Given the description of an element on the screen output the (x, y) to click on. 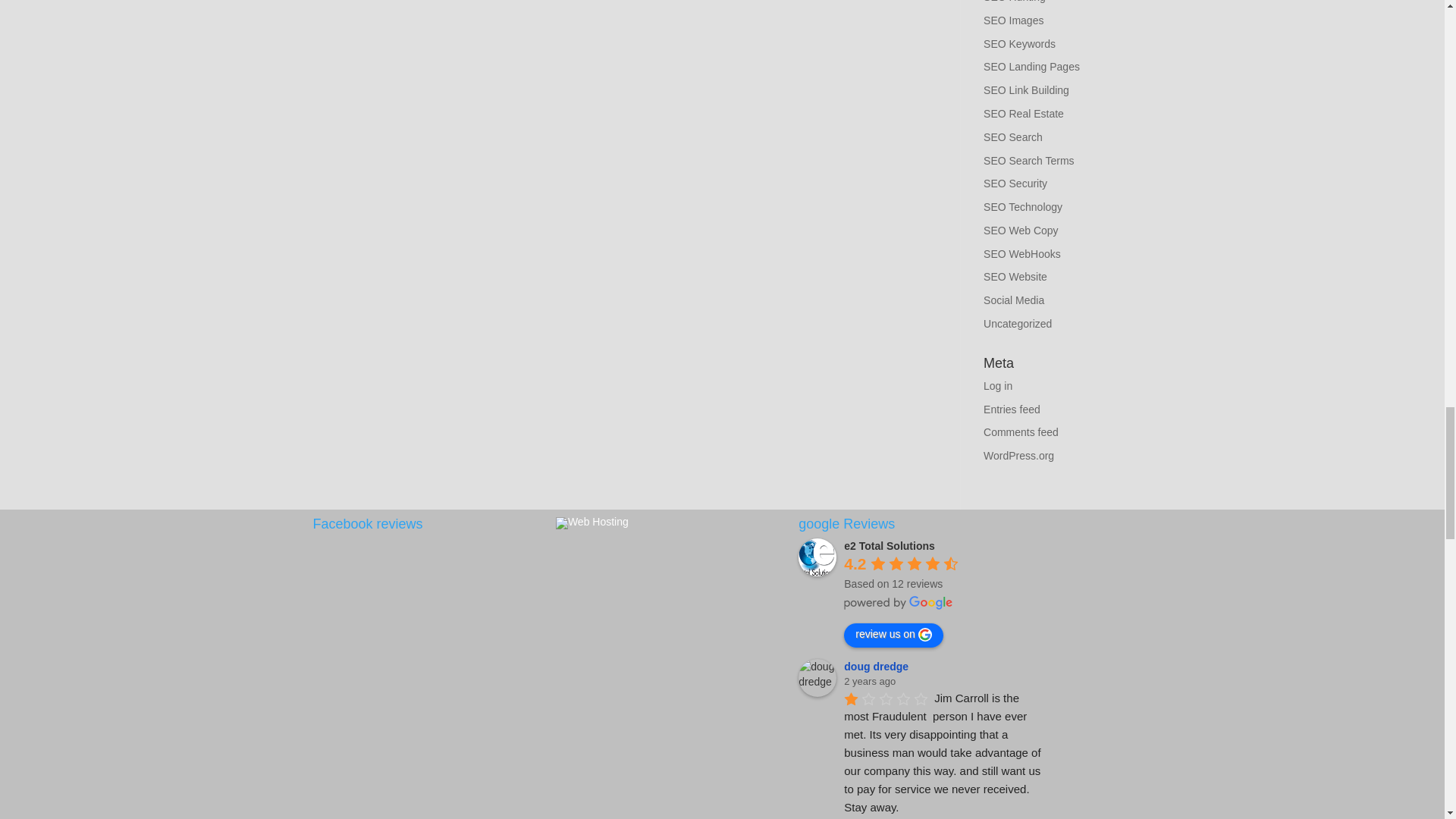
powered by Google (898, 602)
doug dredge (816, 677)
e2 Total Solutions (816, 557)
